Given the description of an element on the screen output the (x, y) to click on. 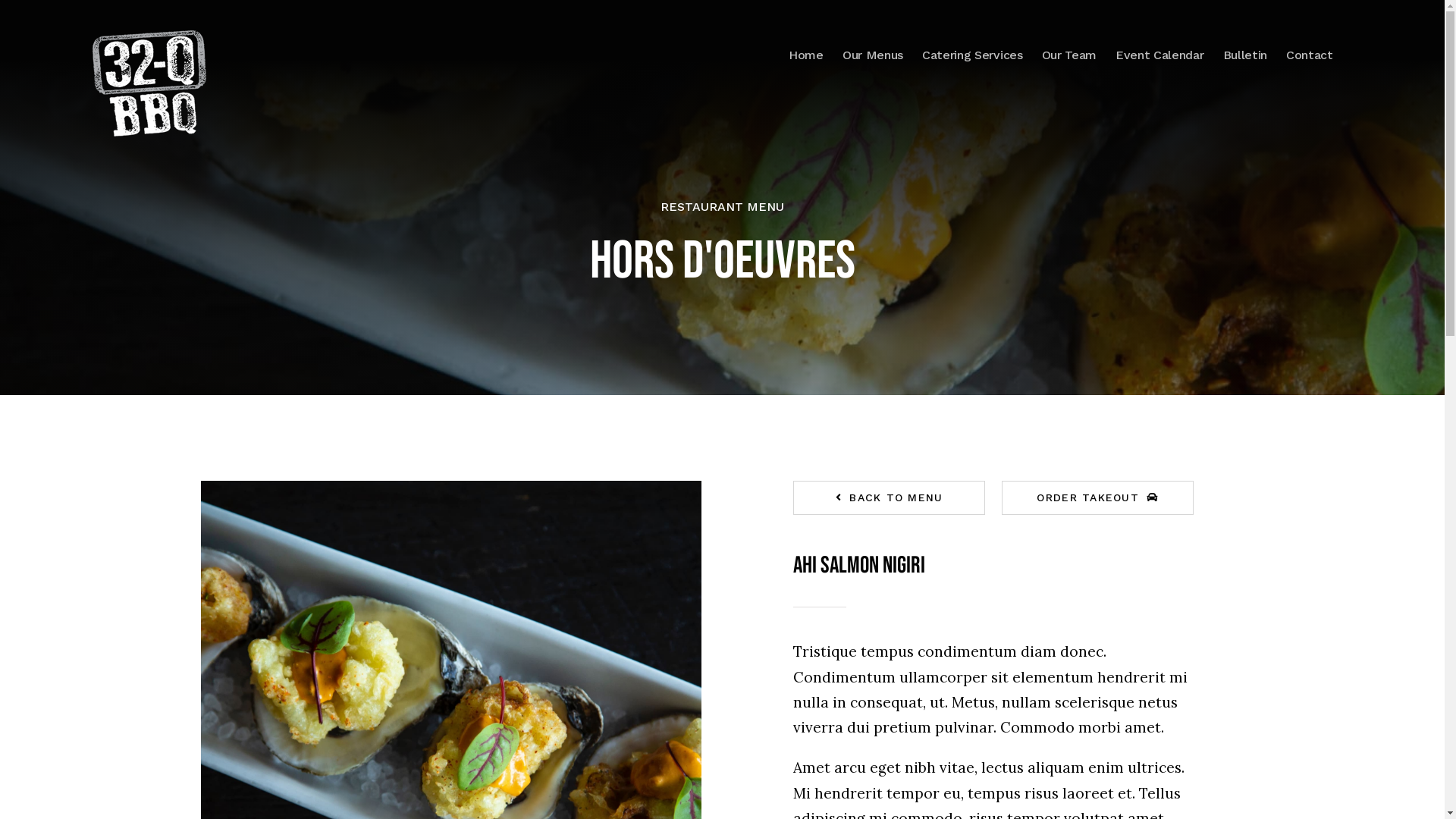
Contact Element type: text (1309, 54)
Our Menus Element type: text (872, 54)
Bulletin Element type: text (1245, 54)
Our Team Element type: text (1068, 54)
Catering Services Element type: text (972, 54)
Home Element type: text (805, 54)
BACK TO MENU Element type: text (889, 497)
Event Calendar Element type: text (1159, 54)
ORDER TAKEOUT Element type: text (1097, 497)
